Given the description of an element on the screen output the (x, y) to click on. 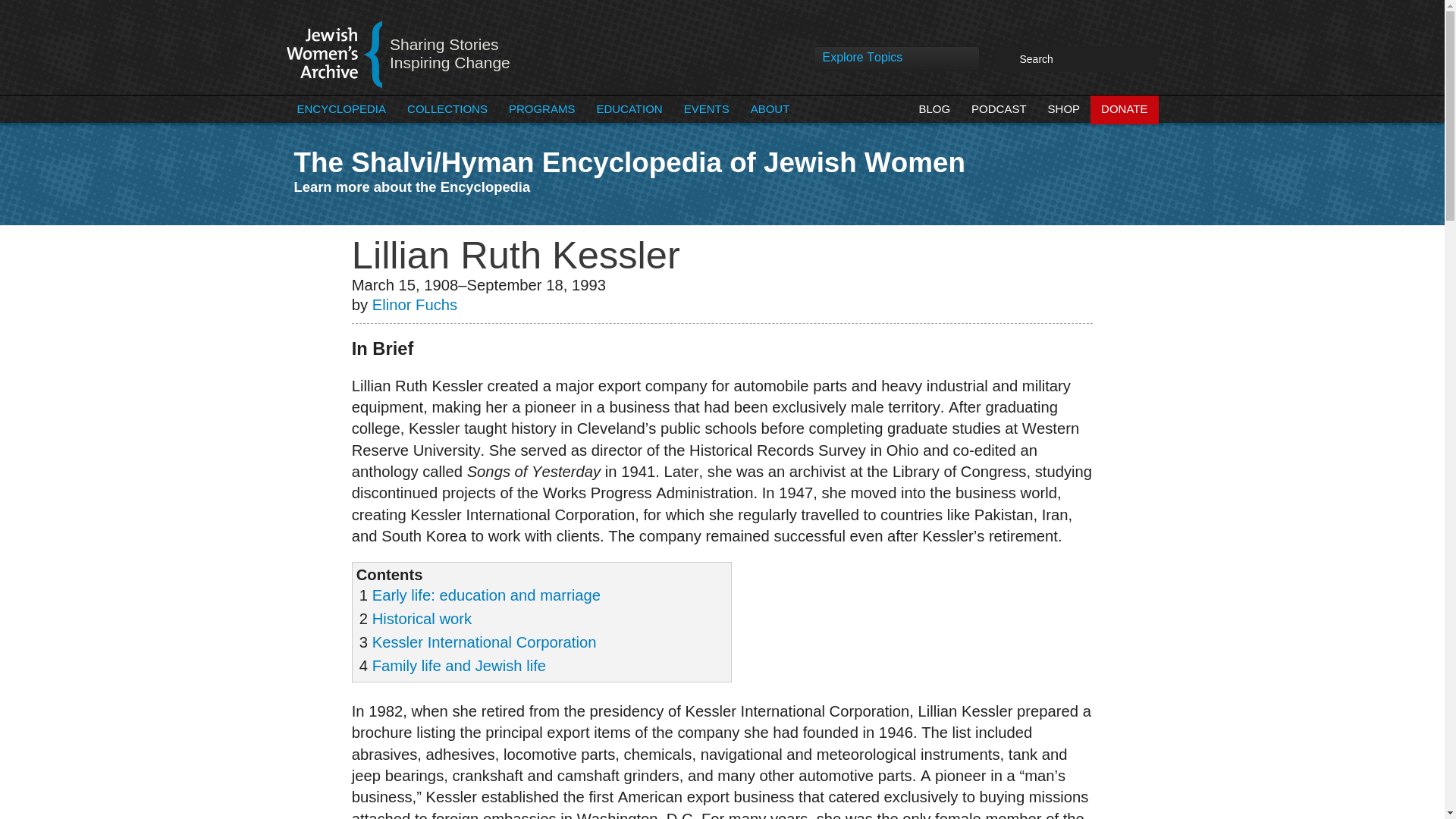
Explore Topics (895, 62)
